Given the description of an element on the screen output the (x, y) to click on. 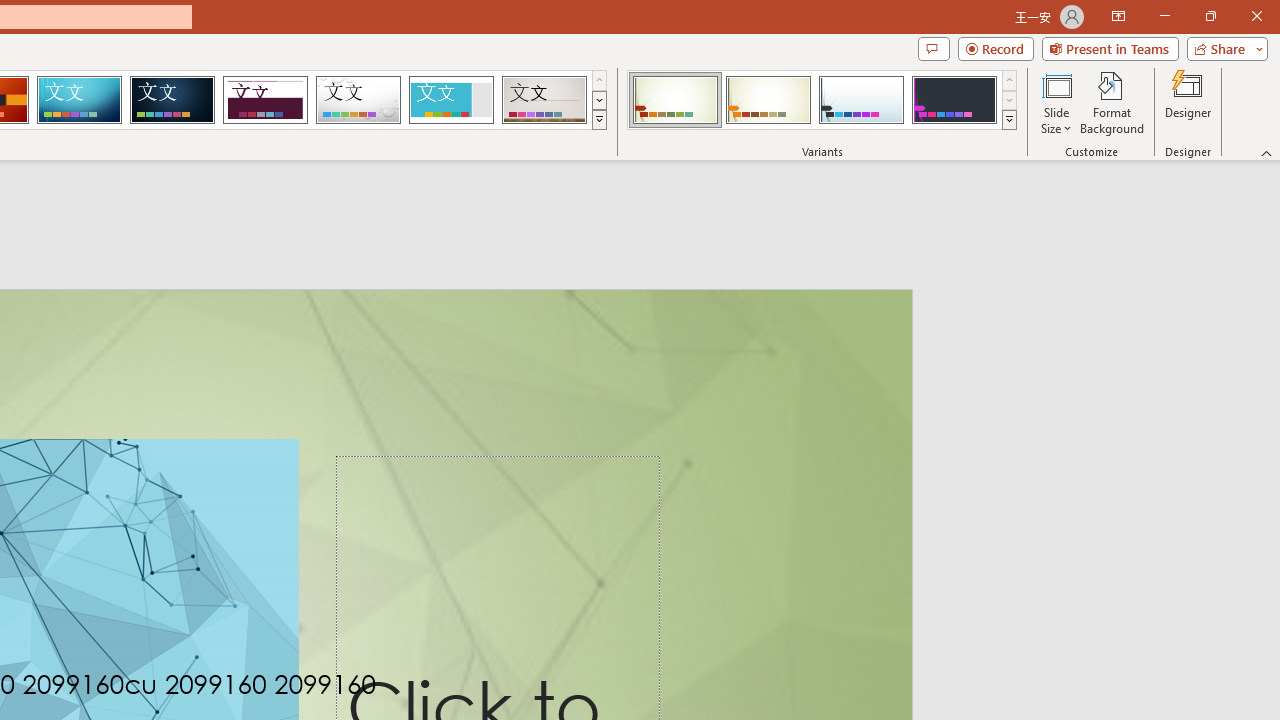
Damask (171, 100)
Wisp Variant 4 (953, 100)
